Given the description of an element on the screen output the (x, y) to click on. 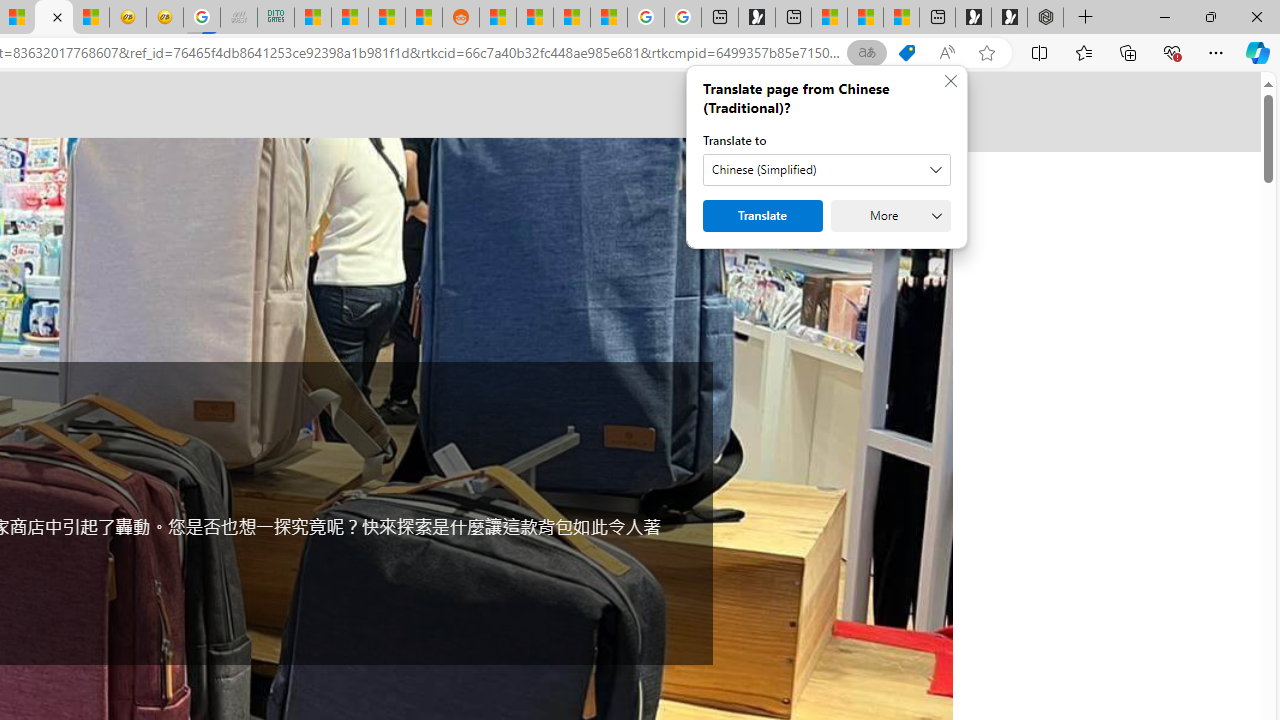
More (890, 215)
Nordace - #1 Japanese Best-Seller - Siena Smart Backpack (53, 17)
